Given the description of an element on the screen output the (x, y) to click on. 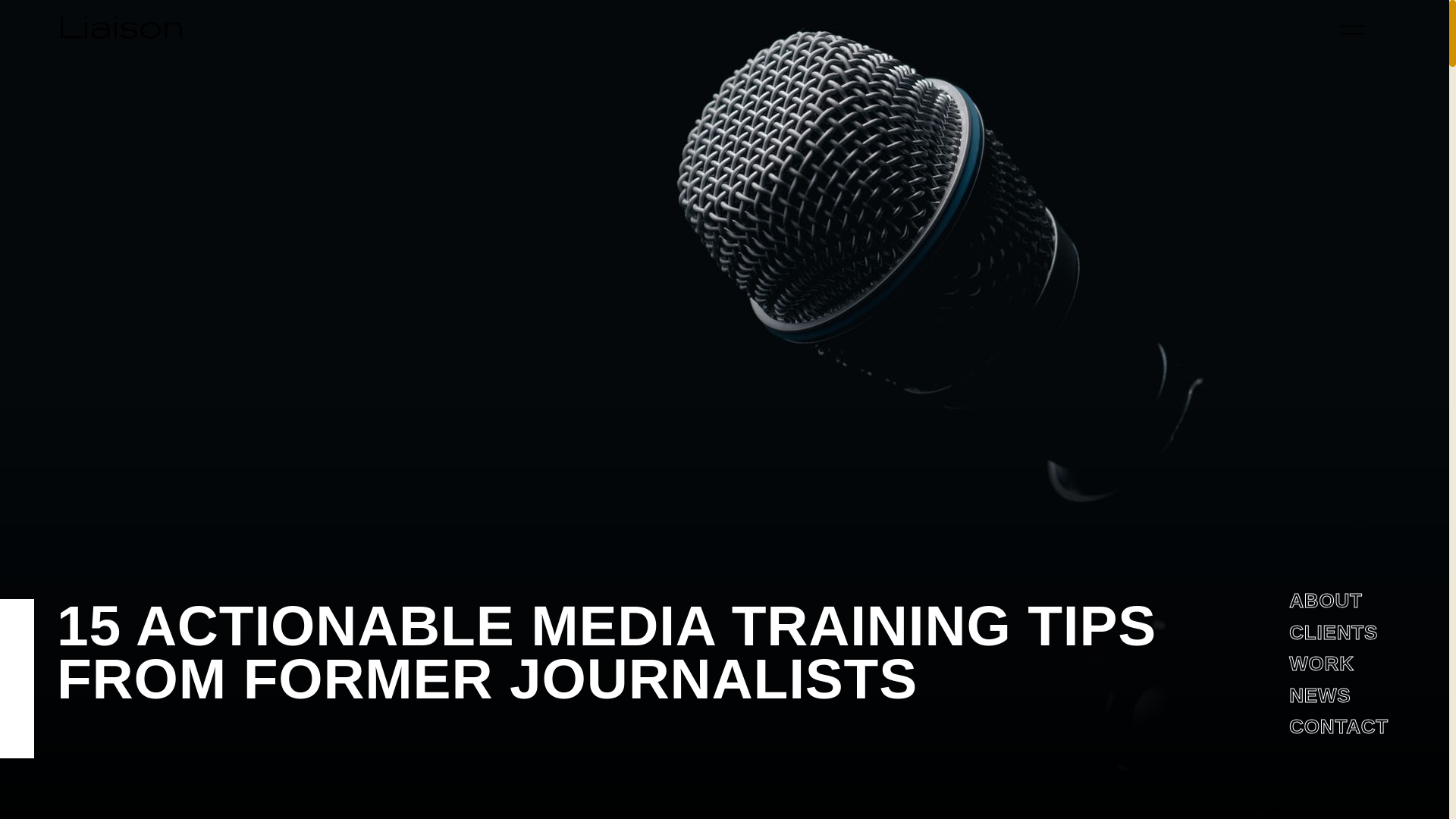
NEWS (1319, 694)
CLIENTS (1332, 631)
CONTACT (1338, 725)
WORK (1321, 662)
ABOUT (1324, 599)
